Given the description of an element on the screen output the (x, y) to click on. 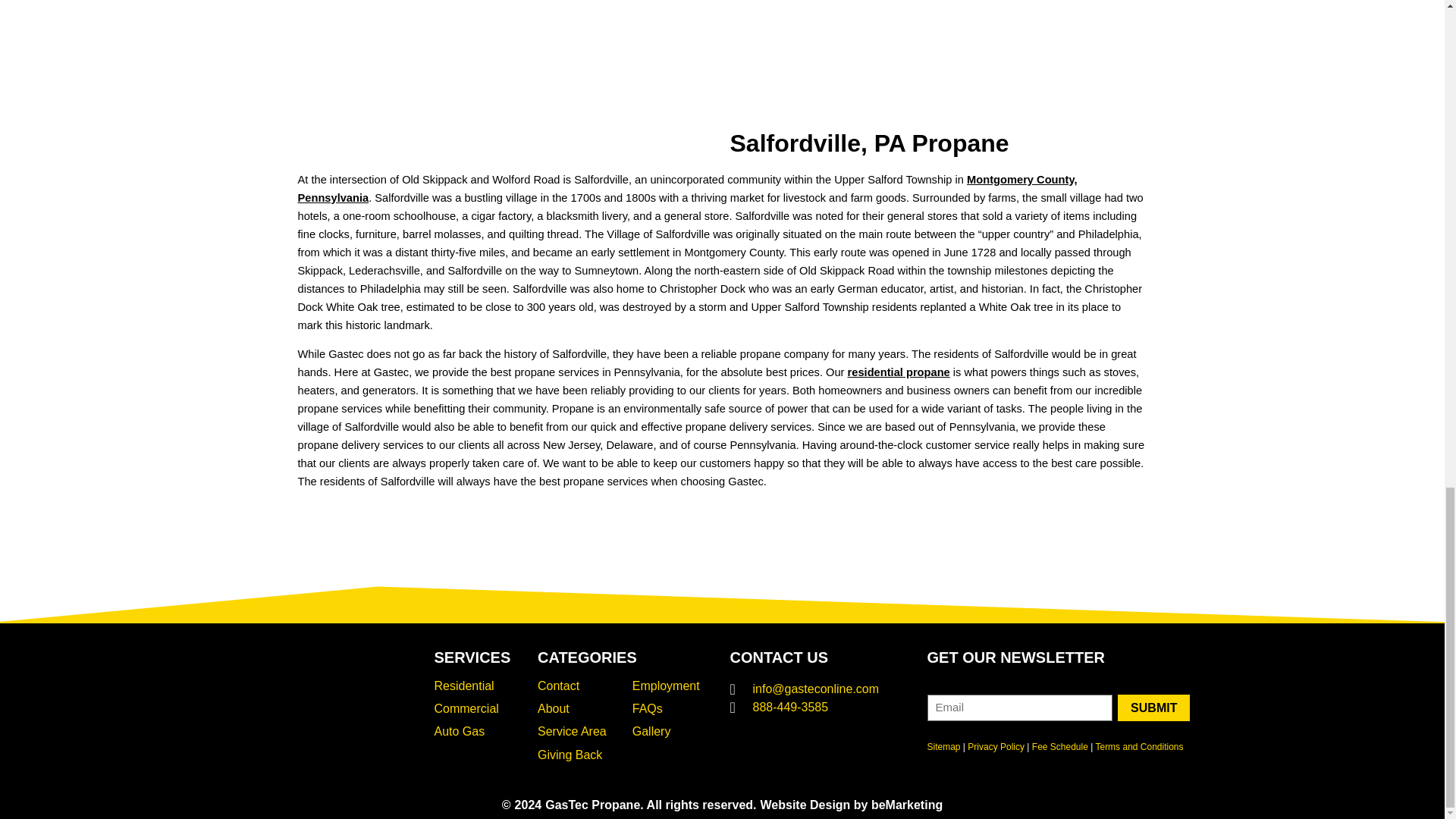
Privacy (996, 747)
Sitemap (942, 747)
Terms (1138, 747)
Fee Schedule (1059, 747)
